Given the description of an element on the screen output the (x, y) to click on. 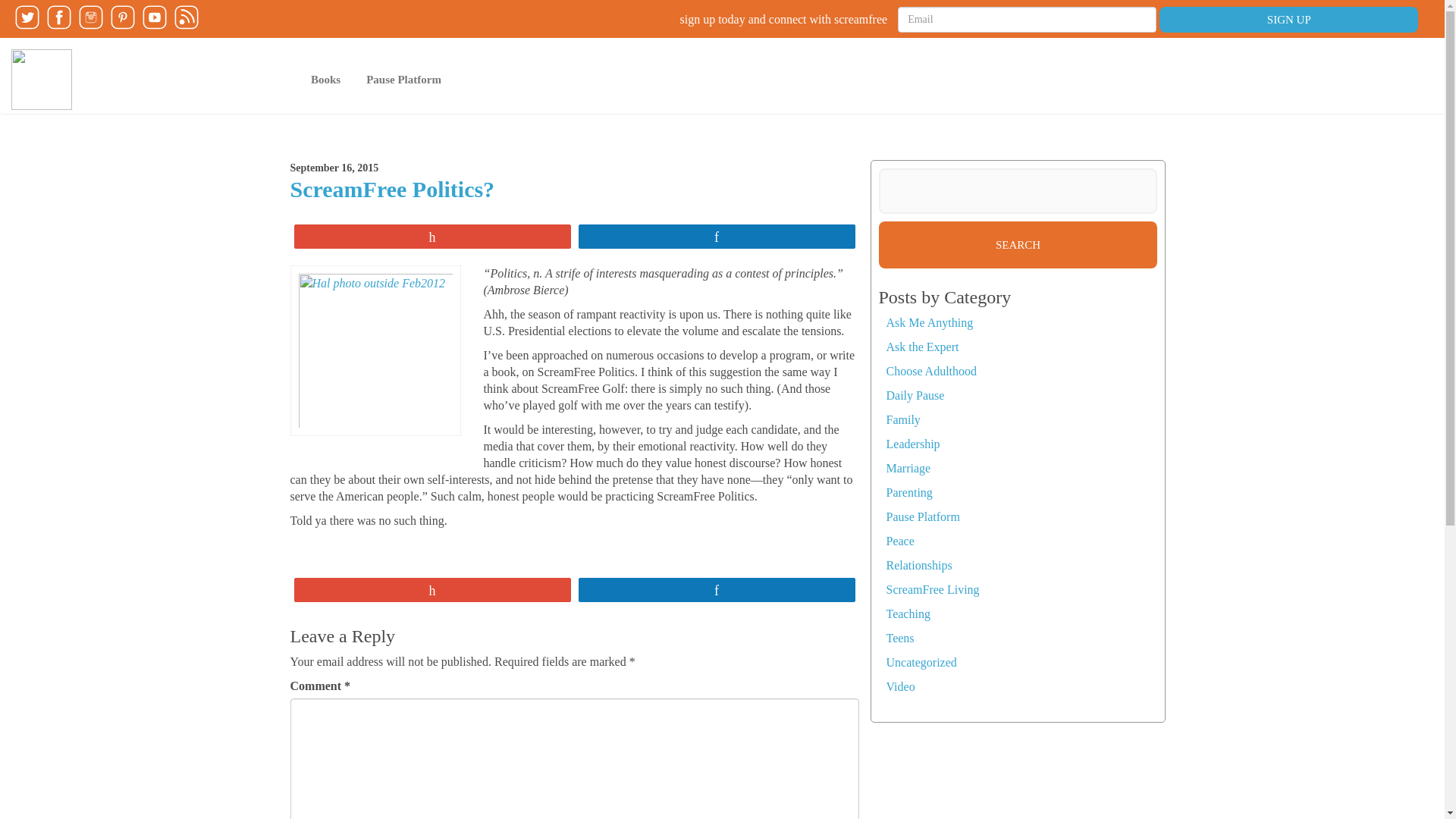
Marriage (907, 468)
Teens (899, 637)
Search (1017, 244)
Family (902, 419)
Teaching (907, 613)
Ask Me Anything (928, 322)
Books (325, 79)
Books (325, 79)
Leadership (912, 443)
SIGN UP (1288, 19)
ScreamFree Living (931, 589)
Parenting (908, 492)
Ask the Expert (921, 346)
Choose Adulthood (930, 370)
Pause Platform (403, 79)
